Given the description of an element on the screen output the (x, y) to click on. 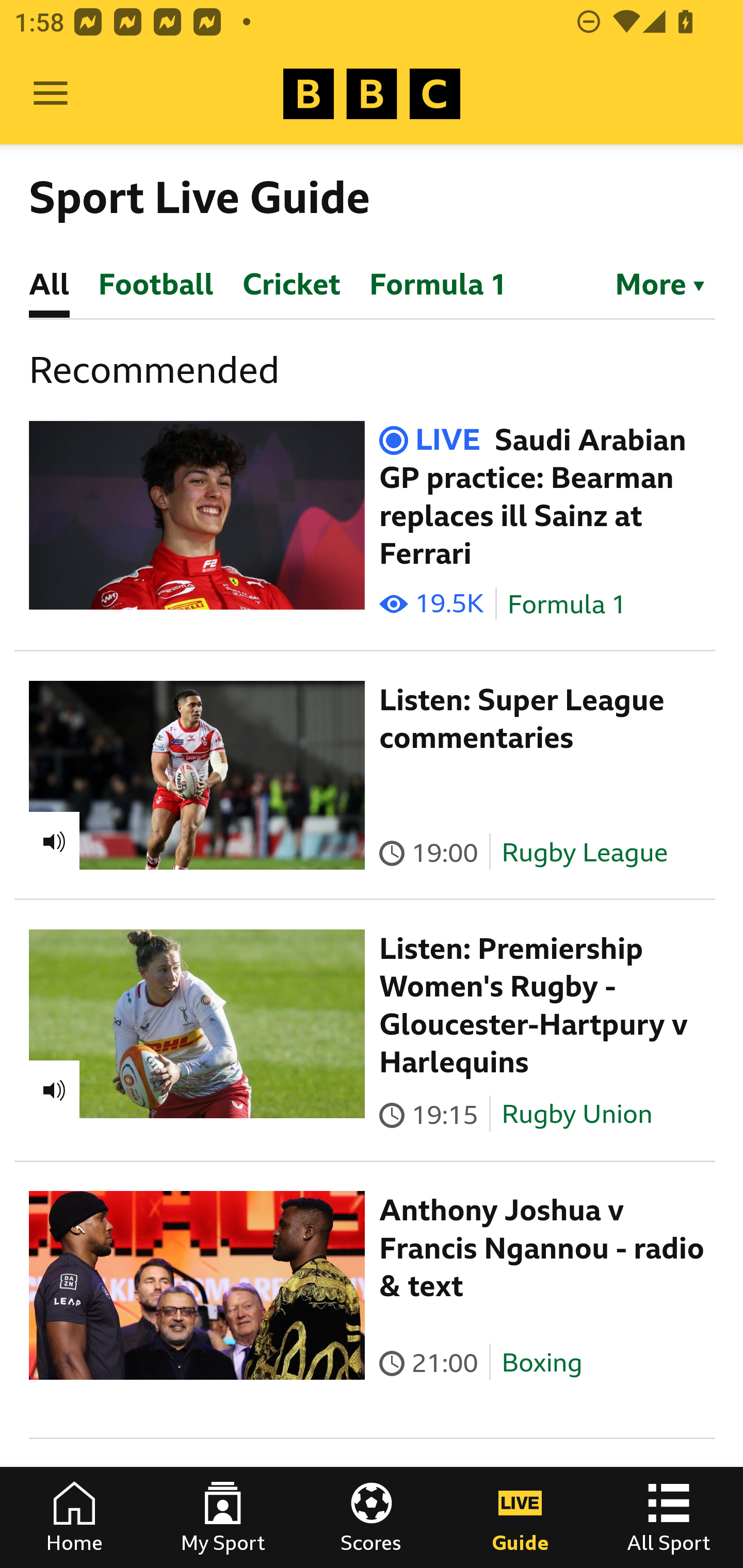
Open Menu (50, 93)
Formula 1 (566, 604)
Listen: Super League commentaries (522, 718)
Rugby League (584, 851)
Rugby Union (576, 1113)
Anthony Joshua v Francis Ngannou - radio & text (541, 1248)
Boxing (541, 1362)
Home (74, 1517)
My Sport (222, 1517)
Scores (371, 1517)
All Sport (668, 1517)
